Given the description of an element on the screen output the (x, y) to click on. 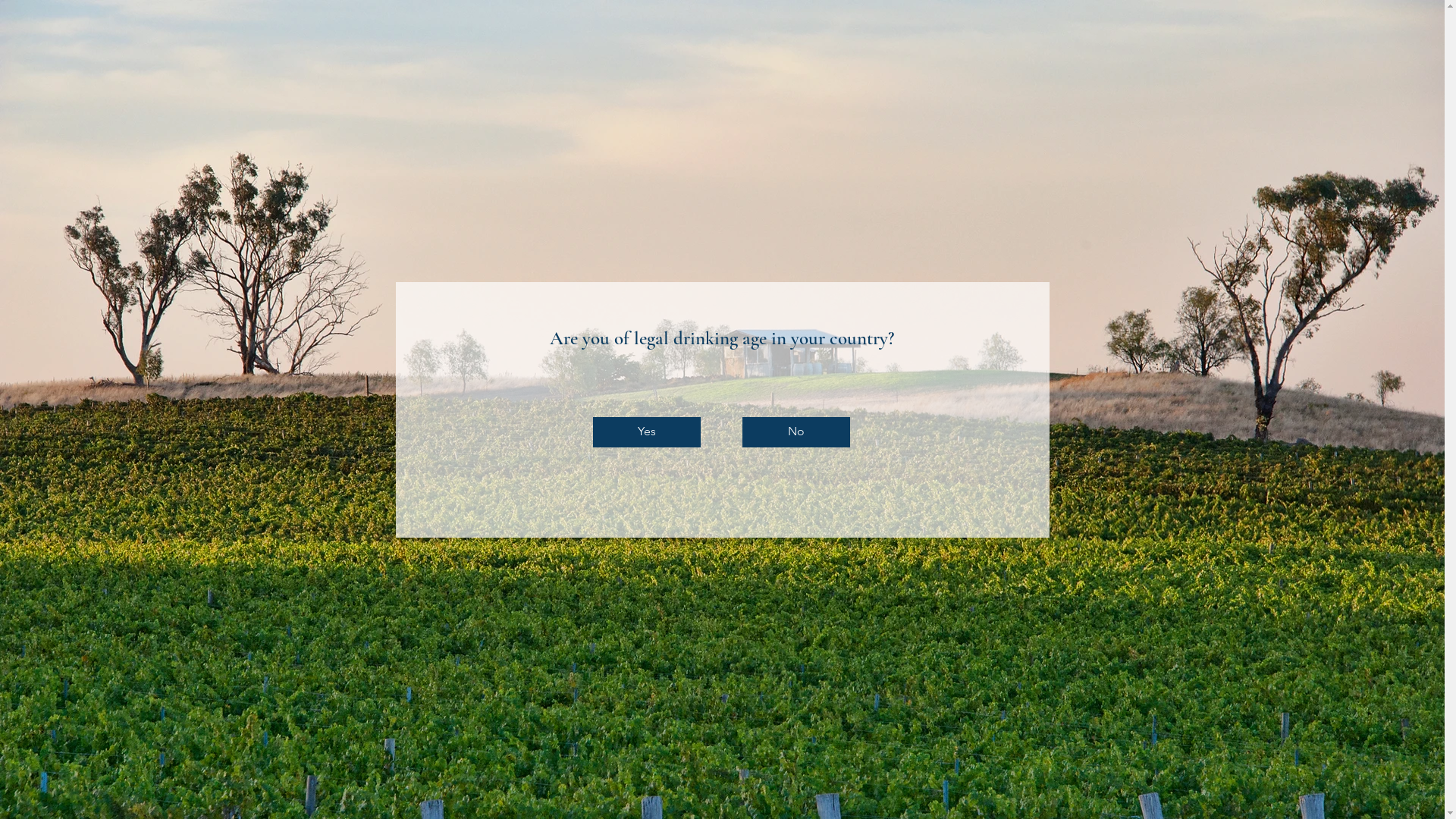
Contact Element type: text (857, 83)
Brands Element type: text (800, 83)
Yes Element type: text (646, 432)
Home Element type: text (580, 83)
Orange Element type: text (680, 83)
No Element type: text (795, 432)
Shop Element type: text (628, 83)
Embedded Content Element type: hover (966, 55)
Vineyard Element type: text (740, 83)
Cumulus Vineyards Logo Element type: hover (720, 42)
